Given the description of an element on the screen output the (x, y) to click on. 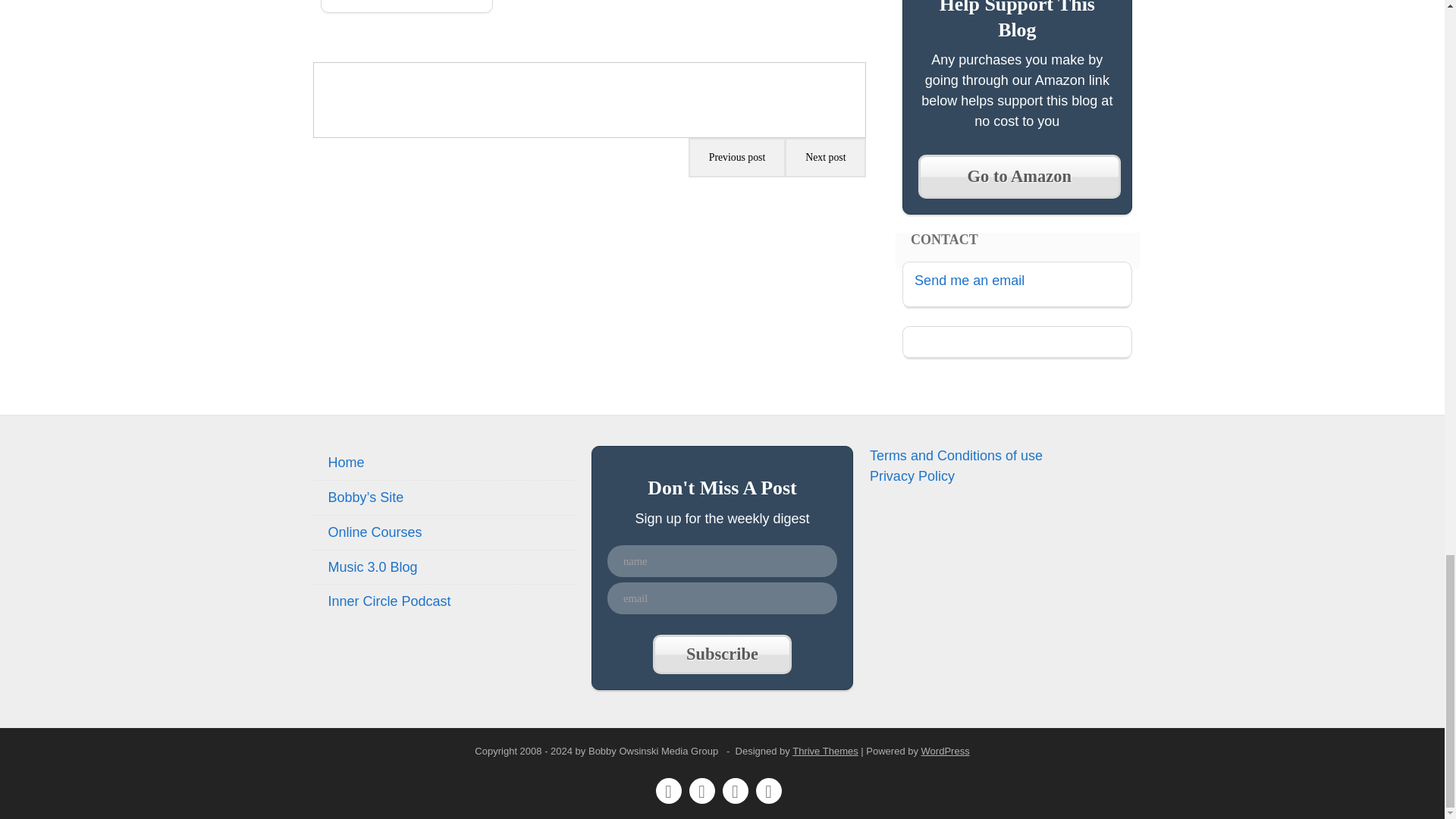
Previous post (737, 157)
Subscribe (721, 654)
Next post (825, 157)
